Given the description of an element on the screen output the (x, y) to click on. 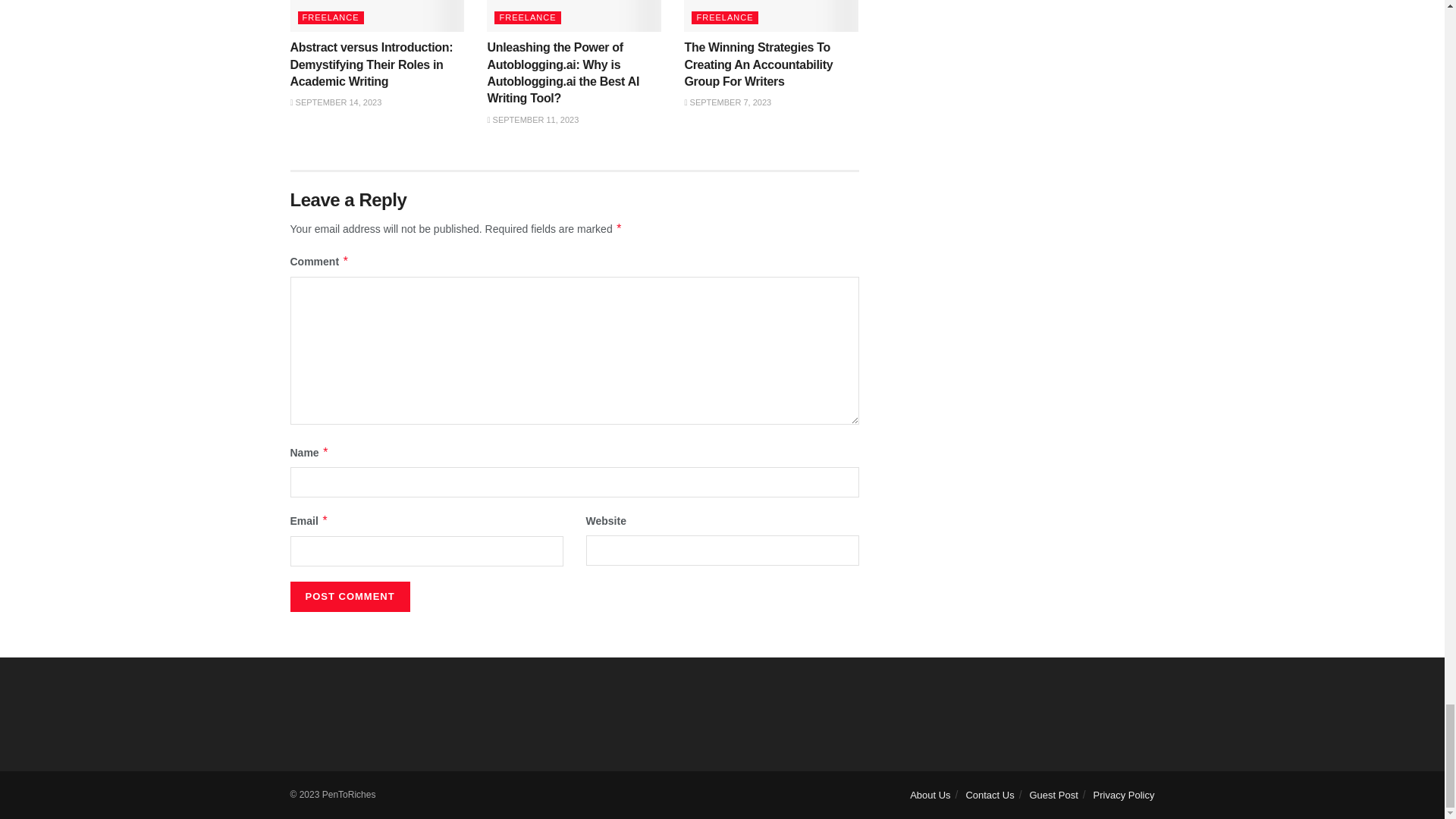
Post Comment (349, 596)
